Given the description of an element on the screen output the (x, y) to click on. 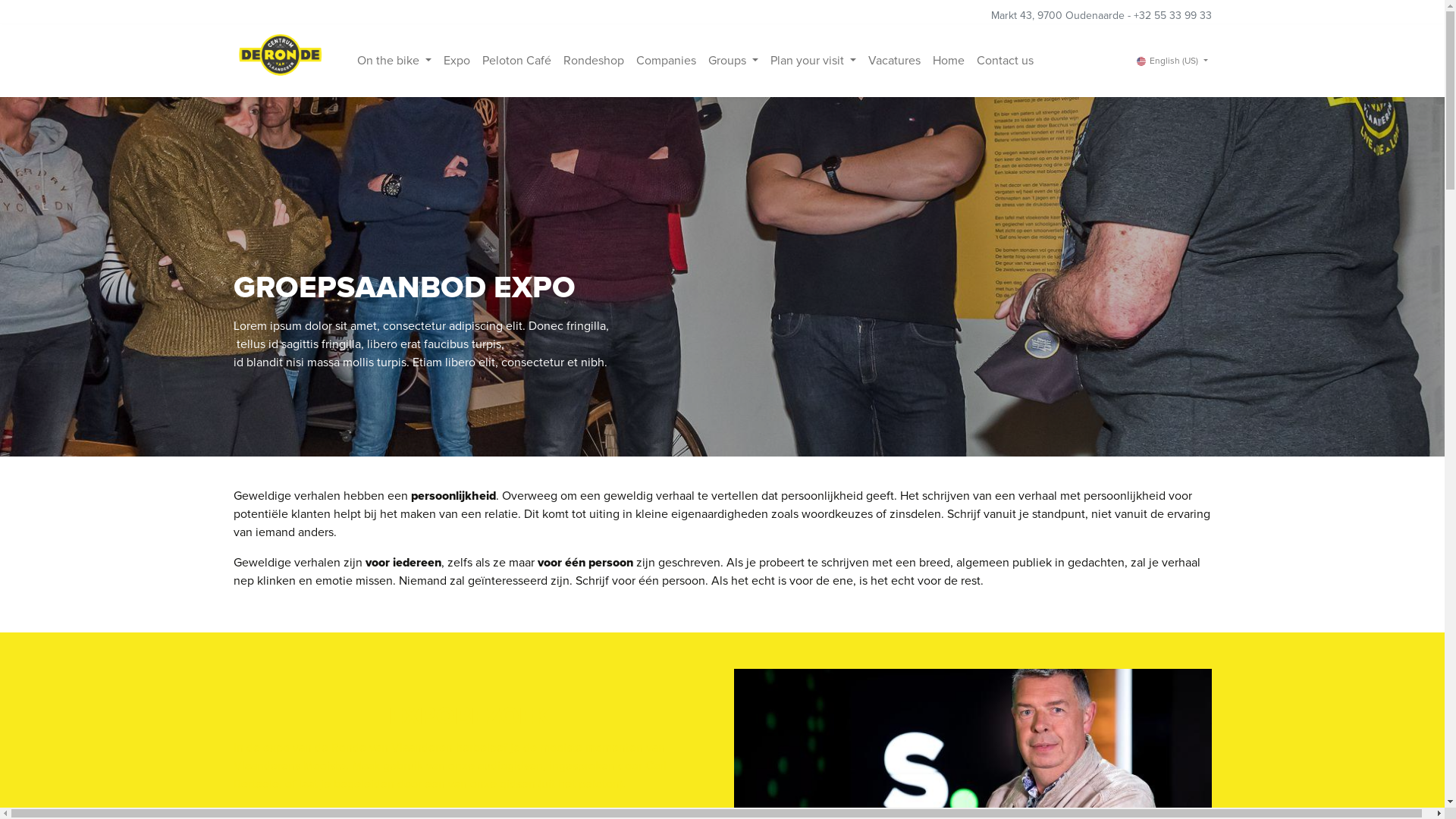
Companies Element type: text (666, 60)
English (US) Element type: text (1171, 61)
Vacatures Element type: text (894, 60)
Contact us Element type: text (1004, 60)
Groups Element type: text (733, 60)
Plan your visit Element type: text (813, 60)
Home Element type: text (948, 60)
CRVV Element type: hover (279, 60)
Rondeshop Element type: text (593, 60)
Expo Element type: text (456, 60)
On the bike Element type: text (394, 60)
